Given the description of an element on the screen output the (x, y) to click on. 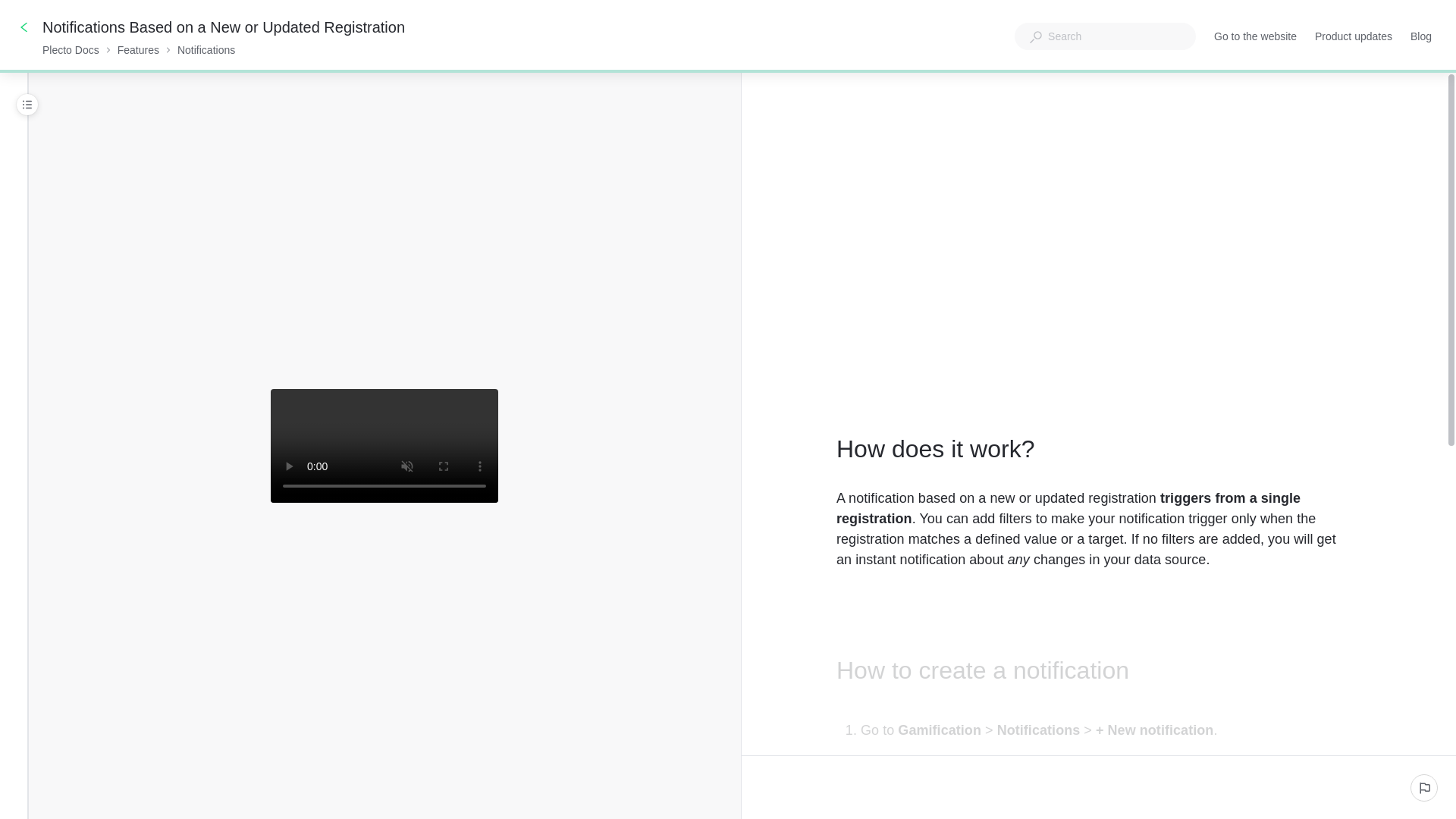
submit (1424, 786)
Plecto Docs (70, 50)
Notifications Based on a New or Updated Registration (224, 27)
Go to the website (1255, 36)
Product updates (1352, 36)
Notifications (205, 50)
Features (137, 50)
Blog (1420, 36)
